Given the description of an element on the screen output the (x, y) to click on. 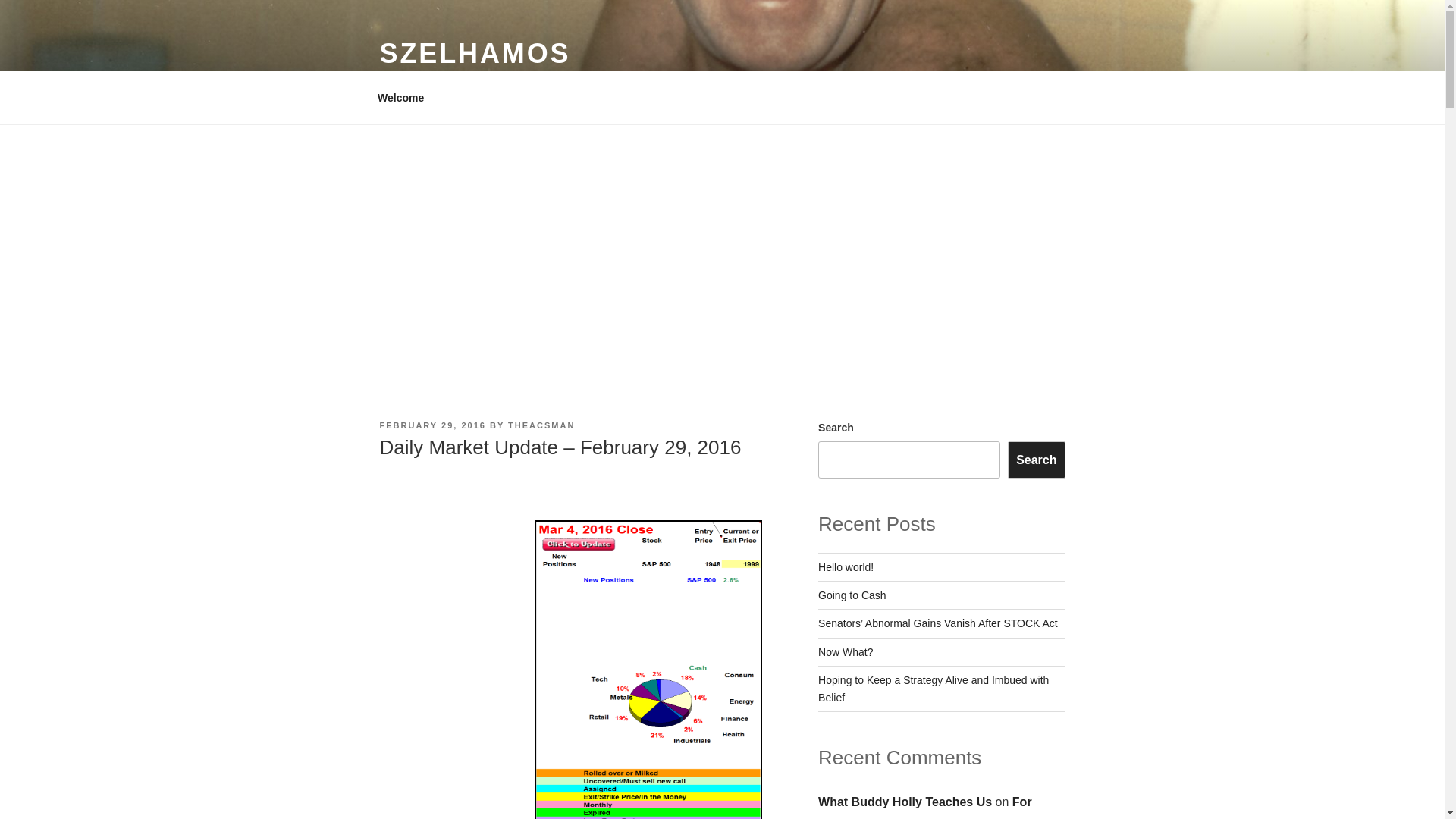
Hello world! (845, 567)
SZELHAMOS (474, 52)
Now What? (845, 652)
For Reformed Broker (925, 807)
What Buddy Holly Teaches Us (904, 801)
Welcome (400, 97)
FEBRUARY 29, 2016 (431, 424)
Going to Cash (852, 594)
Search (1035, 459)
